Given the description of an element on the screen output the (x, y) to click on. 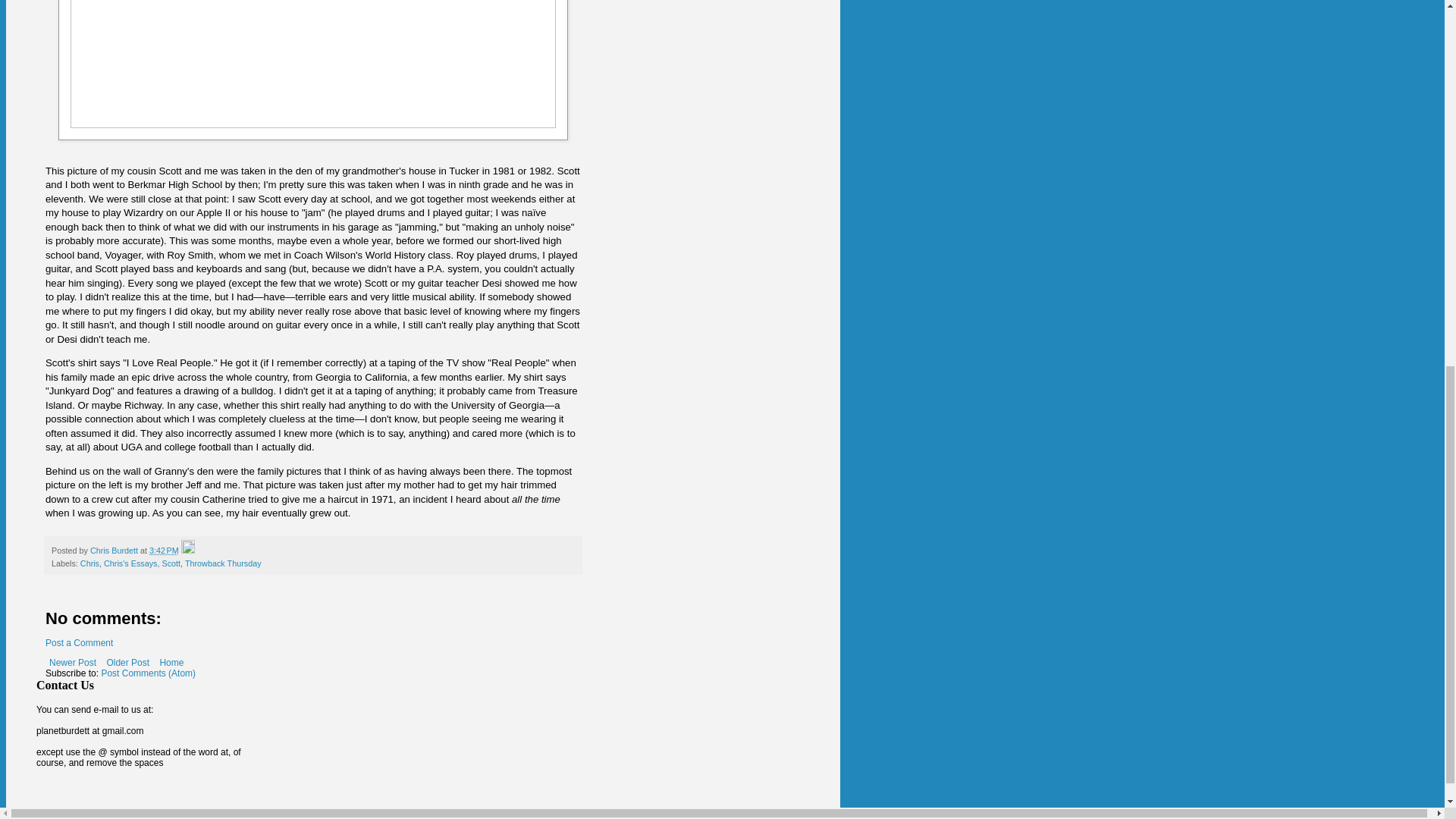
Home (171, 662)
Post a Comment (79, 643)
Scott (170, 563)
Older Post (126, 662)
Older Post (126, 662)
Newer Post (72, 662)
Chris's Essays (130, 563)
Throwback Thursday (223, 563)
Edit Post (187, 550)
Chris (89, 563)
permanent link (164, 550)
Newer Post (72, 662)
author profile (114, 550)
Chris Burdett (114, 550)
